Given the description of an element on the screen output the (x, y) to click on. 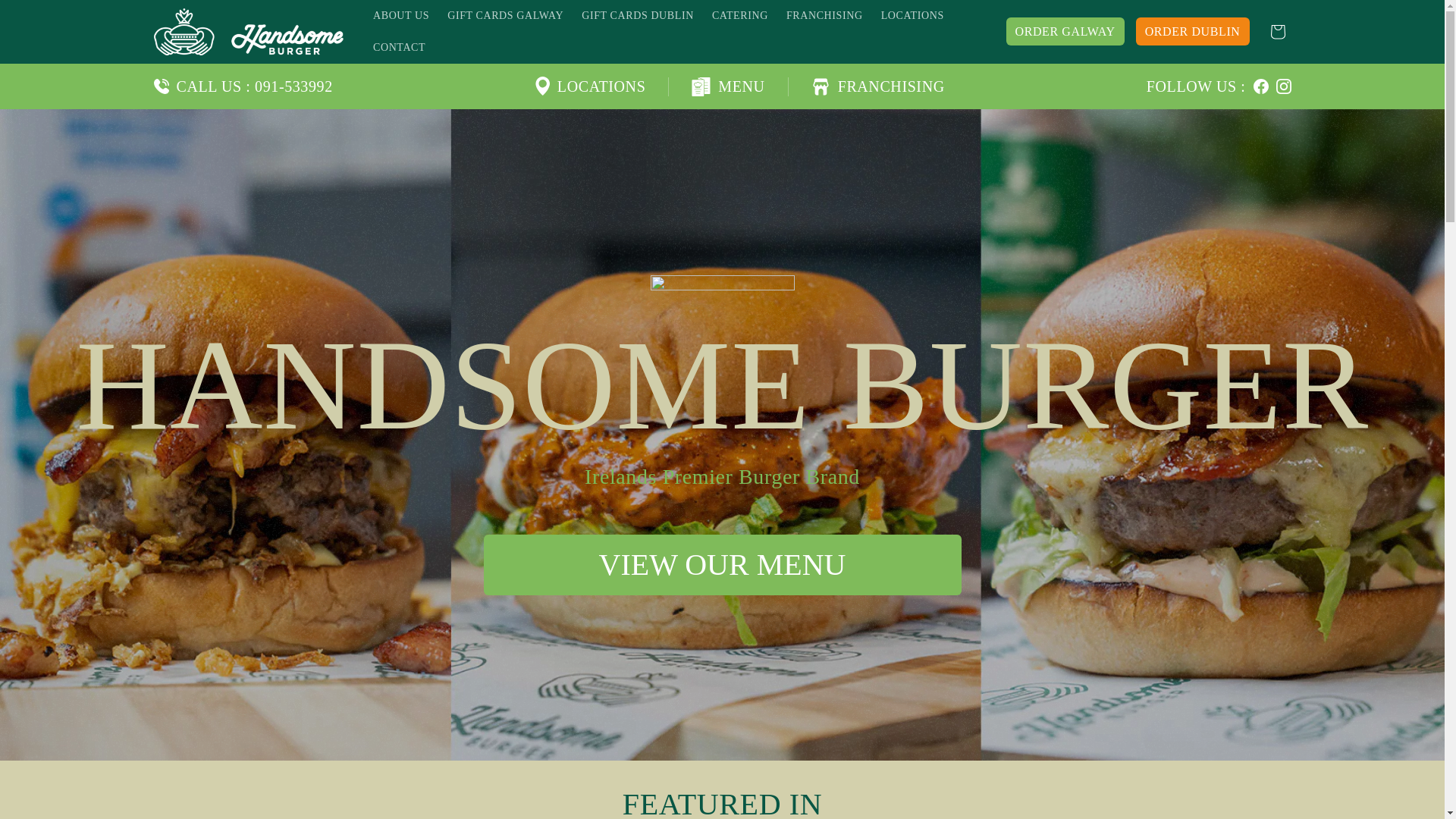
CATERING (740, 15)
GIFT CARDS GALWAY (505, 15)
GIFT CARDS DUBLIN (637, 15)
LOCATIONS (590, 86)
FRANCHISING (878, 86)
FRANCHISING (824, 15)
MENU (727, 86)
SKIP TO CONTENT (45, 17)
VIEW OUR MENU (721, 564)
ABOUT US (401, 15)
